Given the description of an element on the screen output the (x, y) to click on. 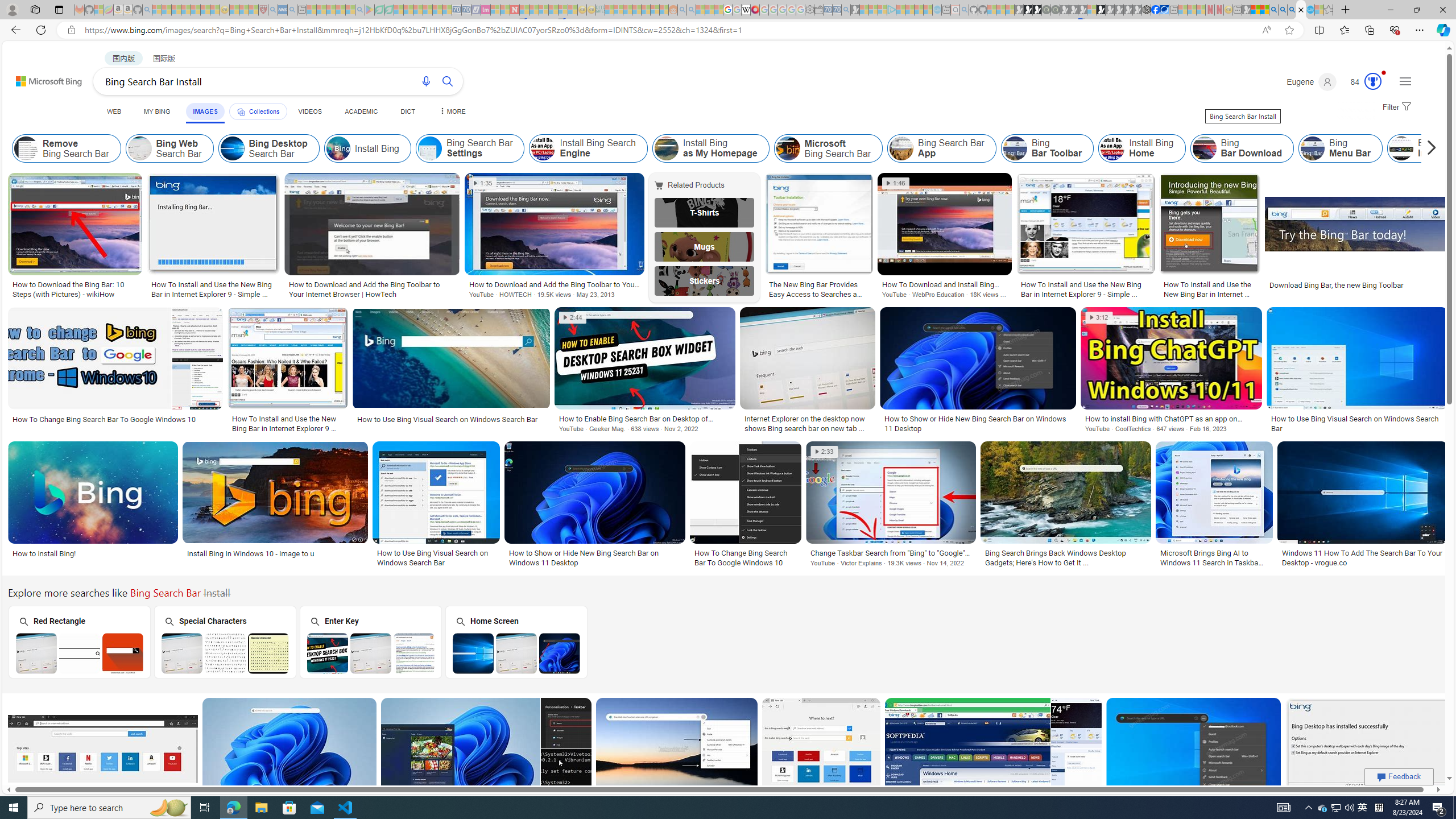
Sign in to your account - Sleeping (1090, 9)
Bing Desktop Search Bar (268, 148)
Remove Bing Search Bar (25, 148)
Special Characters (224, 641)
1:46 (895, 183)
MORE (451, 111)
Stickers (704, 280)
Back to Bing search (41, 78)
